Given the description of an element on the screen output the (x, y) to click on. 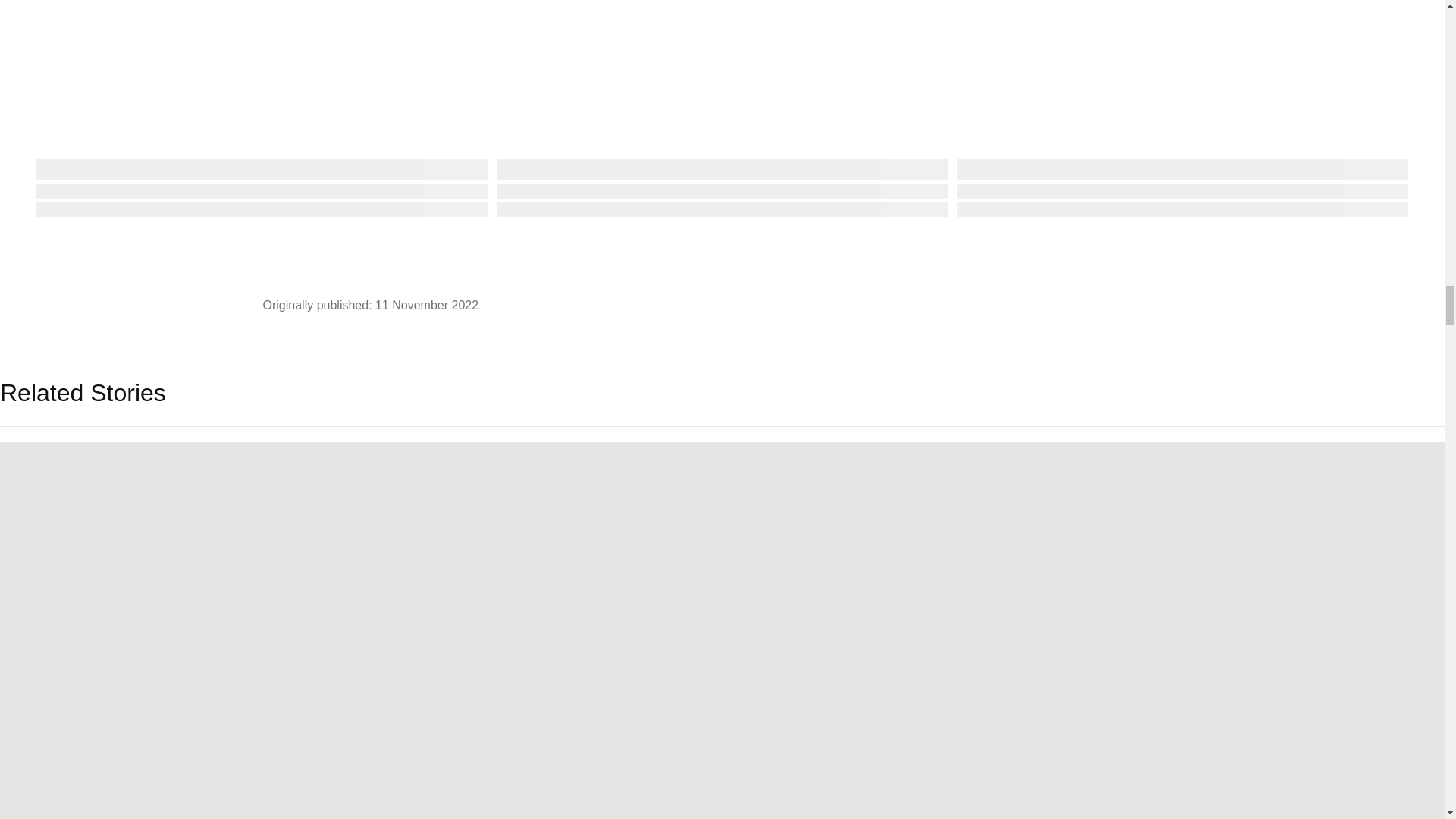
Nike Alate Minimalist (261, 108)
Nike Zenvy (1181, 108)
Nike One Seamless Front (721, 108)
